Given the description of an element on the screen output the (x, y) to click on. 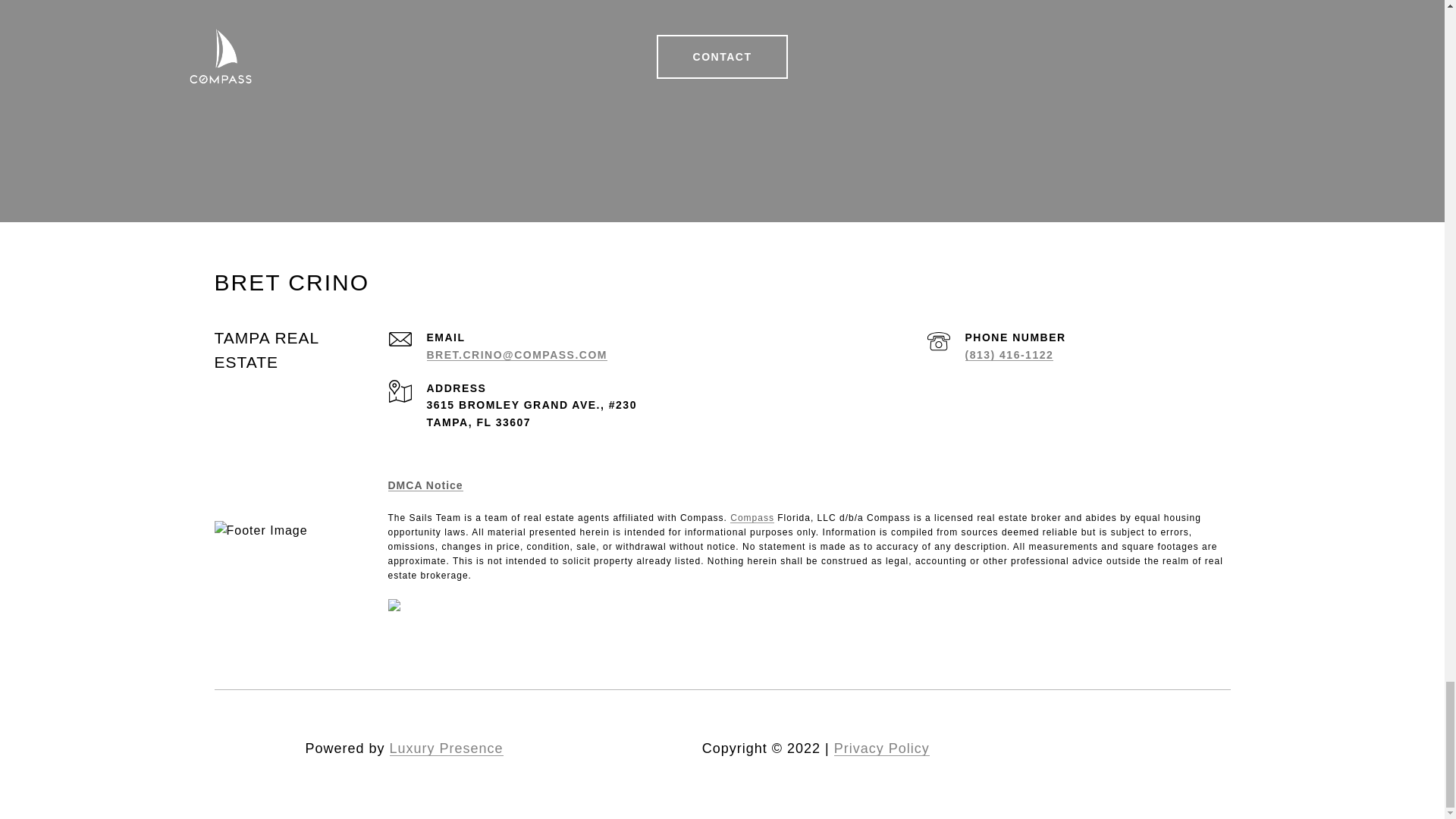
CONTACT (722, 56)
DMCA Notice (425, 485)
